Given the description of an element on the screen output the (x, y) to click on. 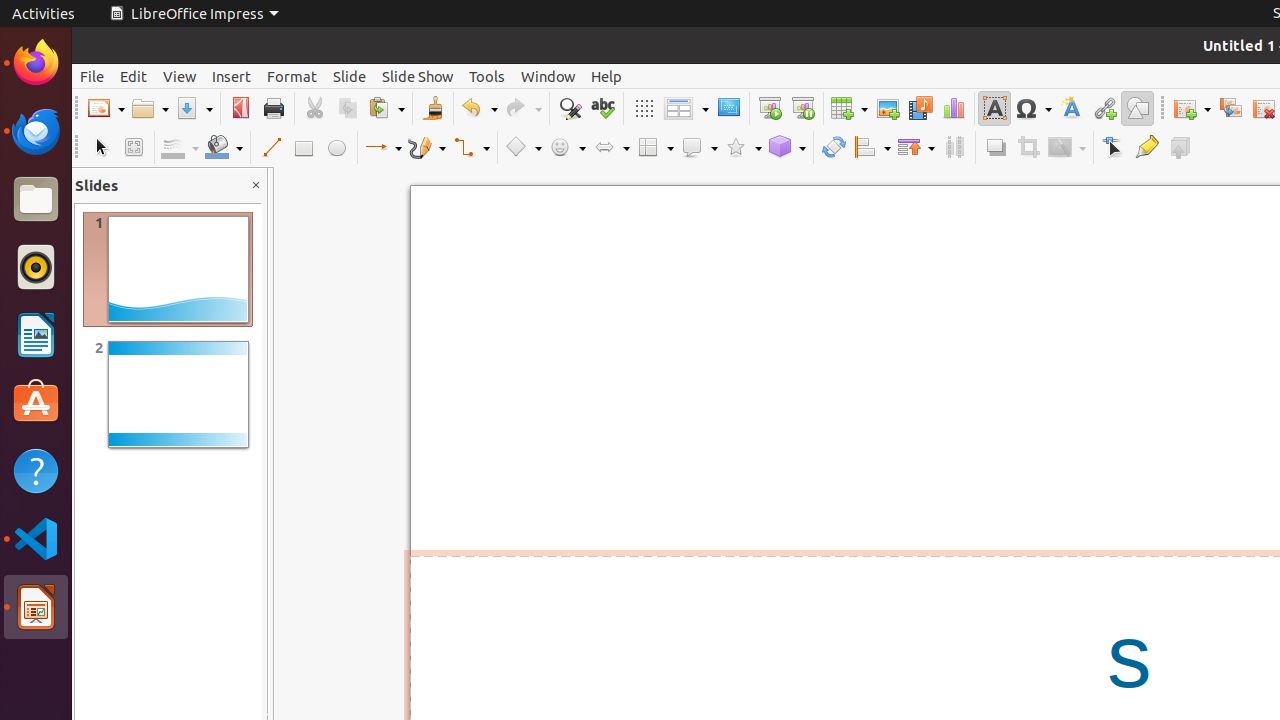
Paste Element type: push-button (386, 108)
Table Element type: push-button (849, 108)
View Element type: menu (179, 76)
Distribution Element type: push-button (954, 147)
Image Element type: push-button (887, 108)
